Given the description of an element on the screen output the (x, y) to click on. 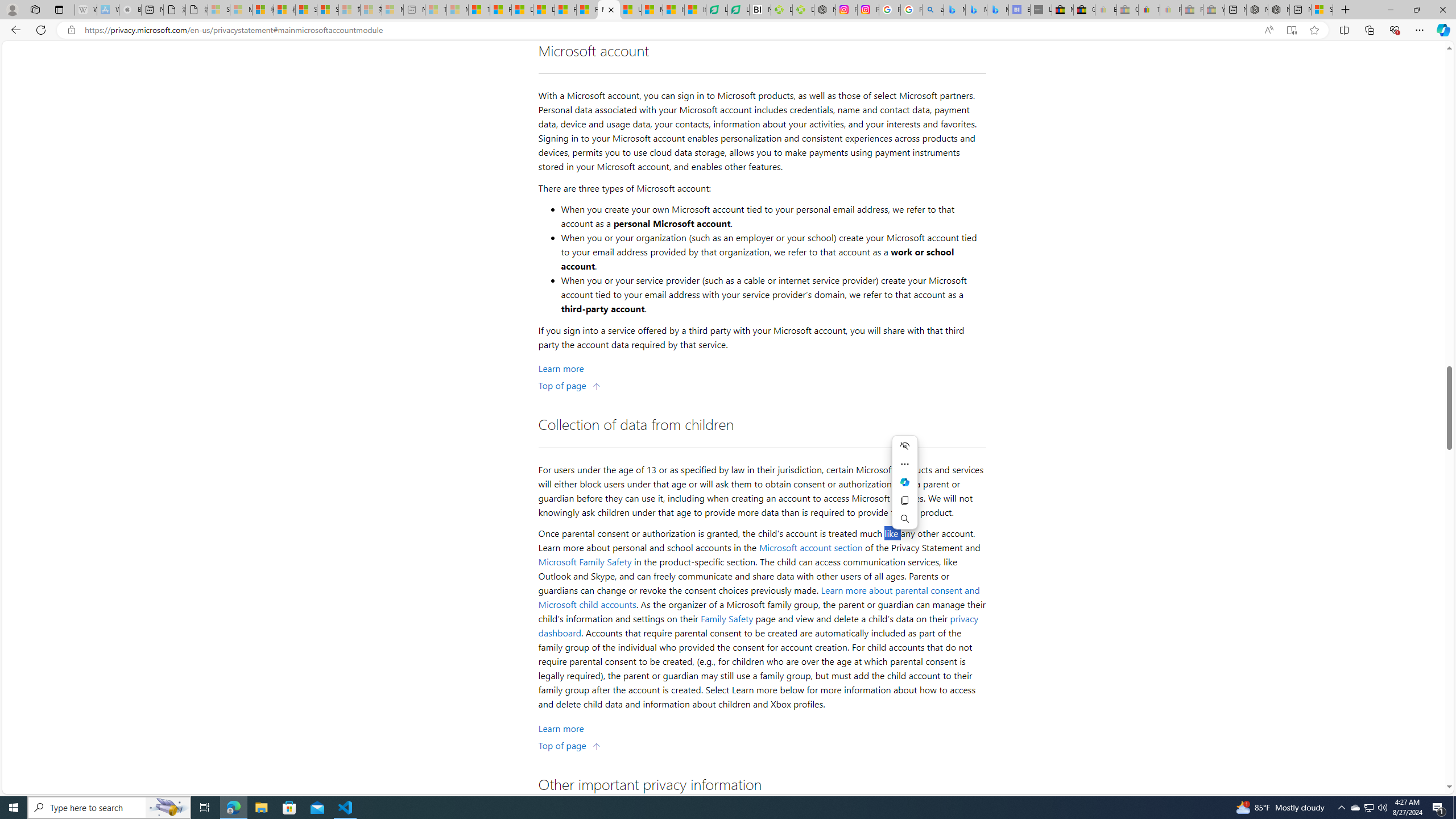
Learn More about Collection of data from children (560, 727)
Microsoft Services Agreement - Sleeping (241, 9)
Microsoft Family Safety (584, 561)
LendingTree - Compare Lenders (738, 9)
